Given the description of an element on the screen output the (x, y) to click on. 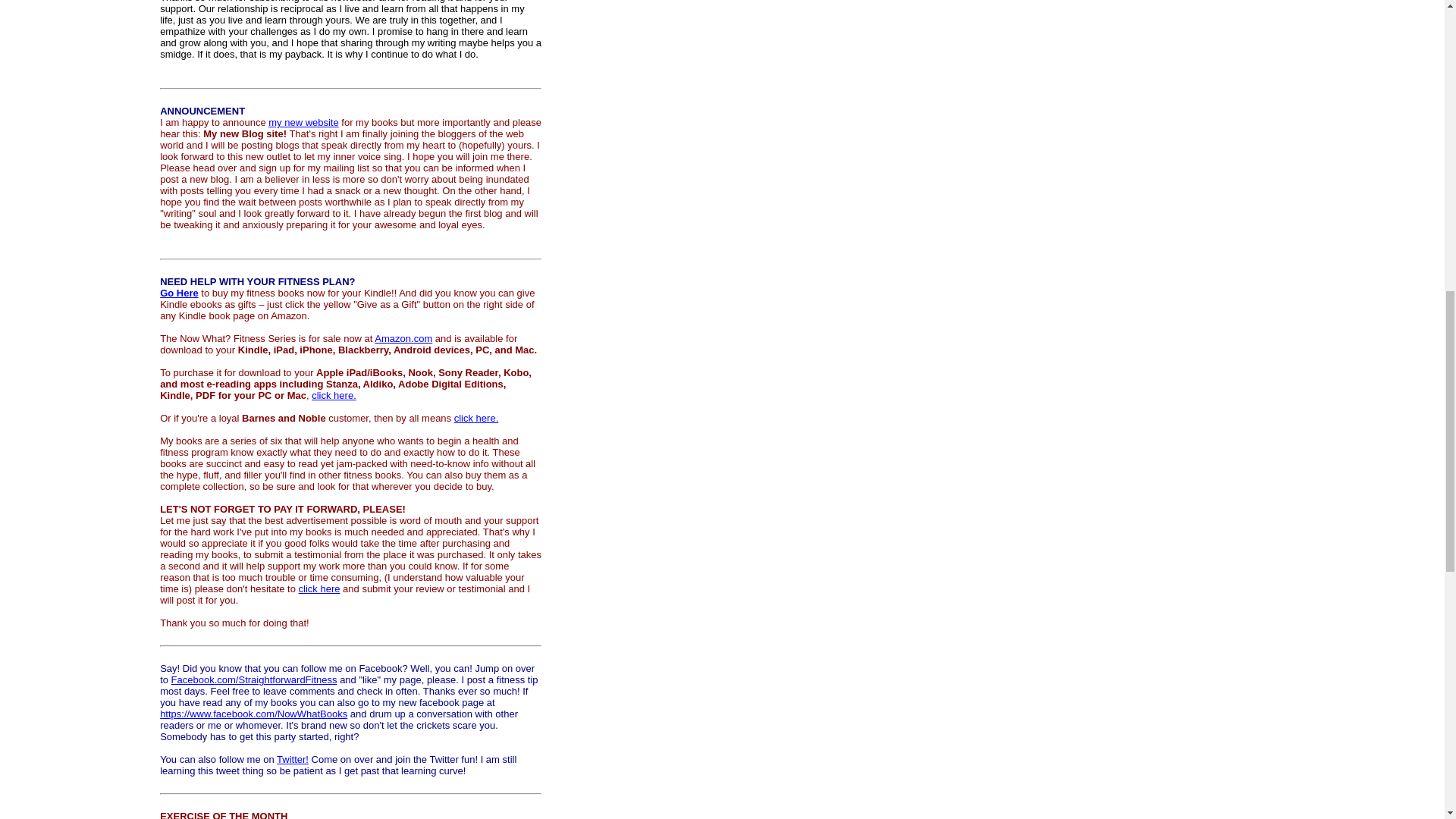
click here. (333, 395)
Amazon.com (403, 337)
click here (319, 588)
my new website (302, 122)
click here. (476, 418)
Twitter! (292, 758)
Go Here (179, 292)
